Given the description of an element on the screen output the (x, y) to click on. 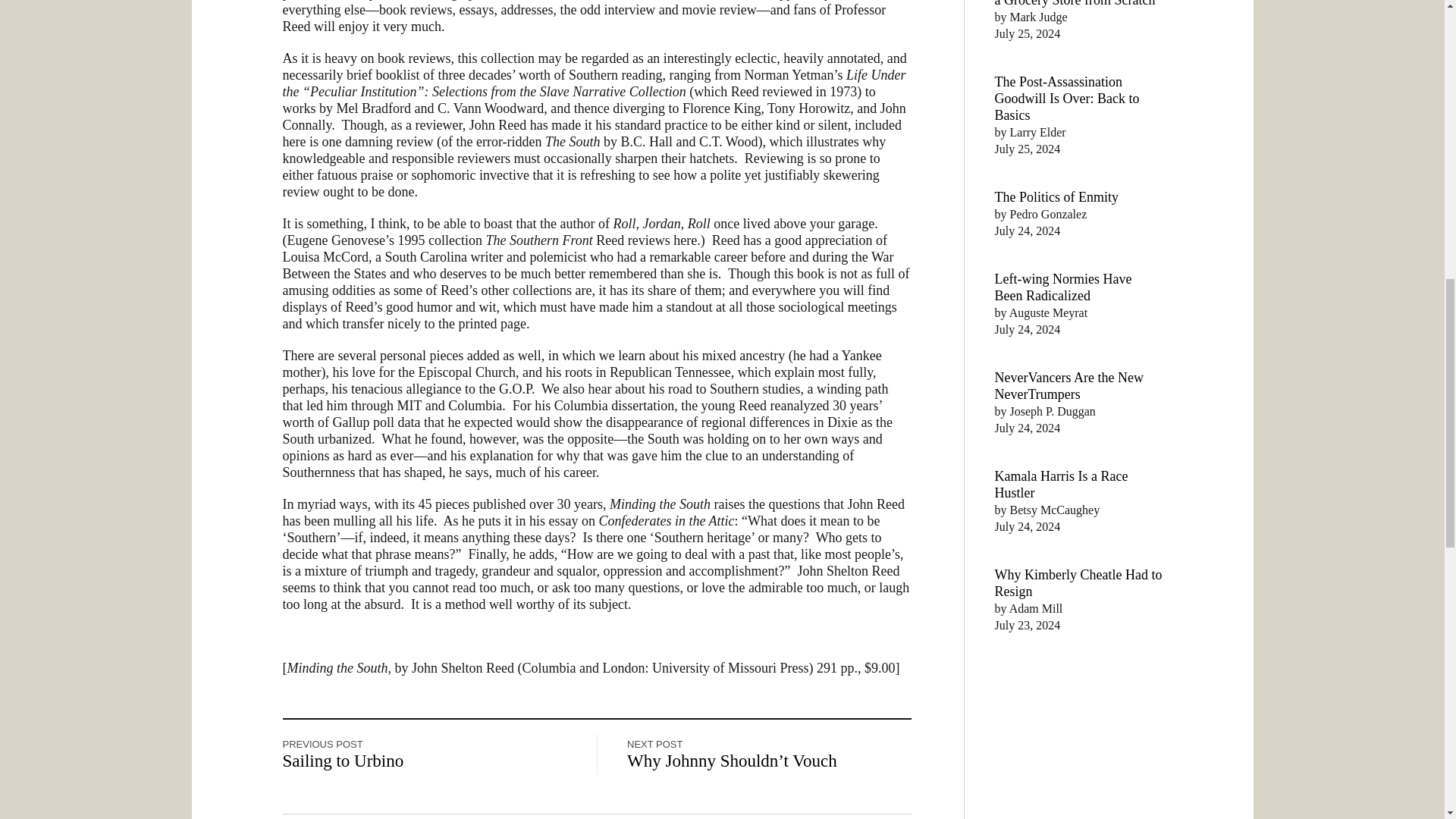
The Politics of Enmity (1056, 196)
Kamala Harris Is a Race Hustler (1061, 484)
America, Honor, and Building a Grocery Store from Scratch (1077, 3)
Left-wing Normies Have Been Radicalized (1063, 287)
Why Kimberly Cheatle Had to Resign (1077, 582)
NeverVancers Are the New NeverTrumpers (1068, 386)
Sailing to Urbino (342, 761)
The Post-Assassination Goodwill Is Over: Back to Basics (1067, 98)
